Given the description of an element on the screen output the (x, y) to click on. 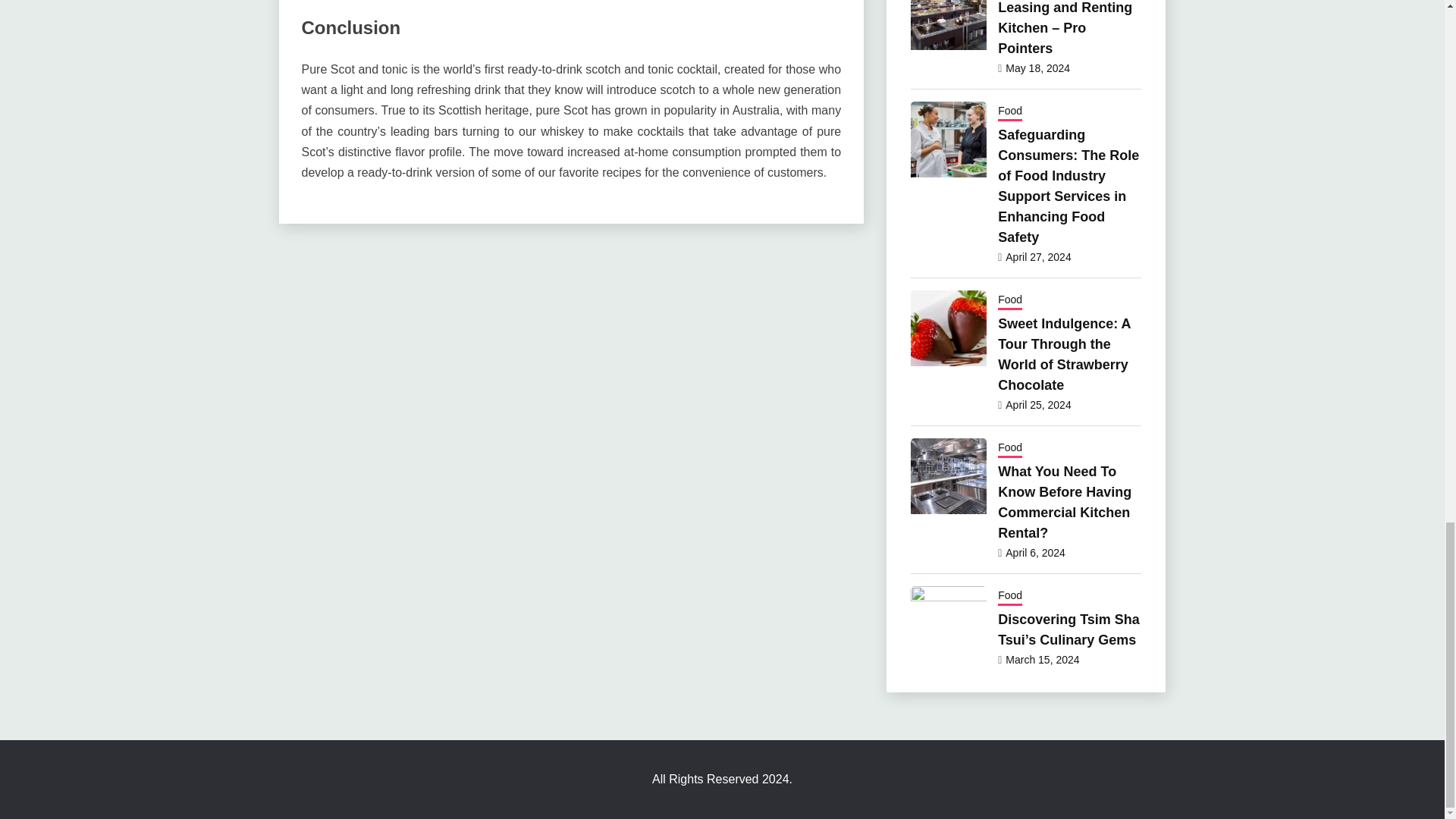
April 27, 2024 (1038, 256)
Food (1009, 300)
May 18, 2024 (1038, 68)
Food (1009, 112)
